Given the description of an element on the screen output the (x, y) to click on. 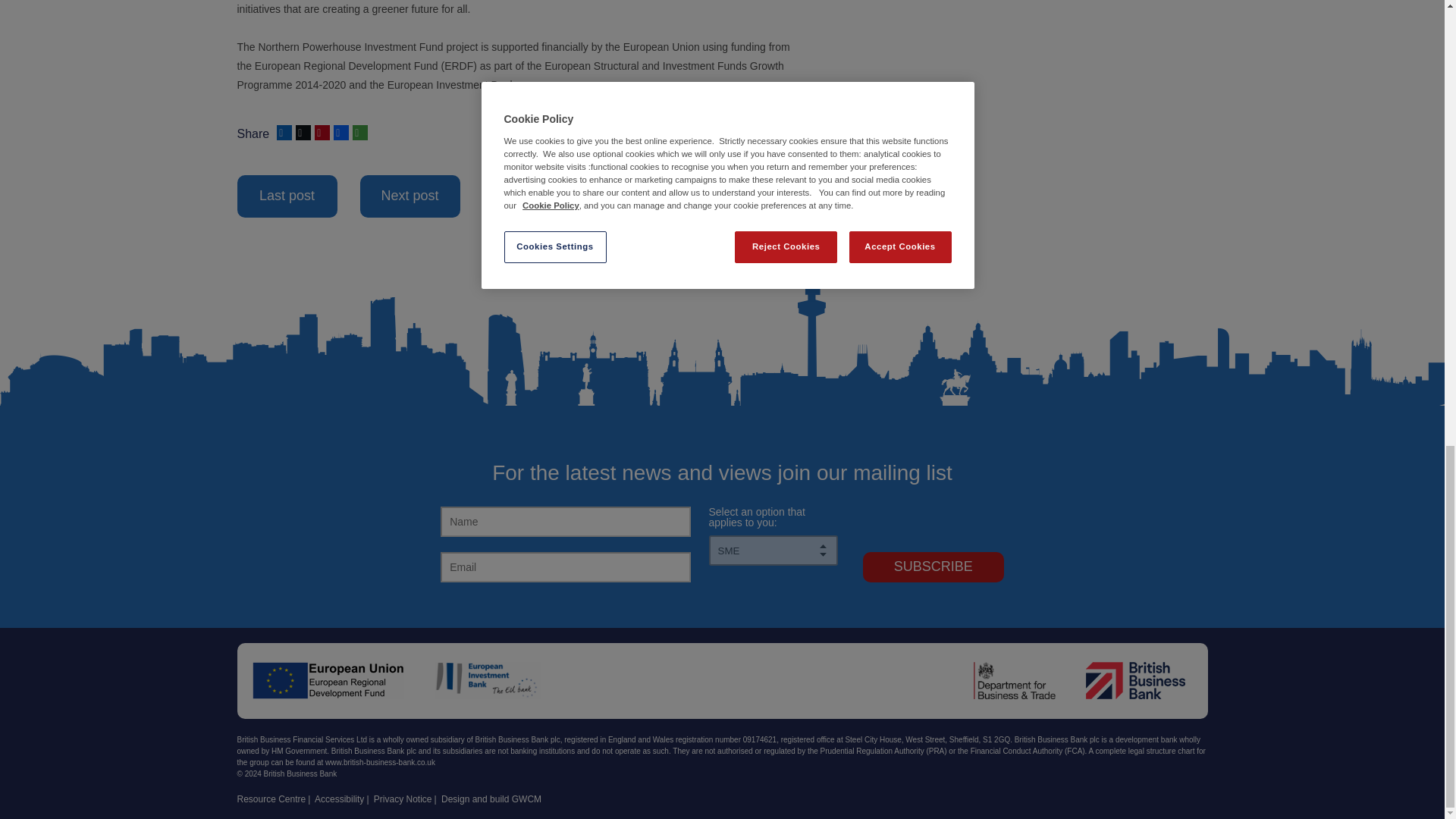
Pinterest (320, 132)
LinkedIn (282, 132)
More Options (358, 132)
Subscribe (933, 567)
Facebook (339, 132)
